Given the description of an element on the screen output the (x, y) to click on. 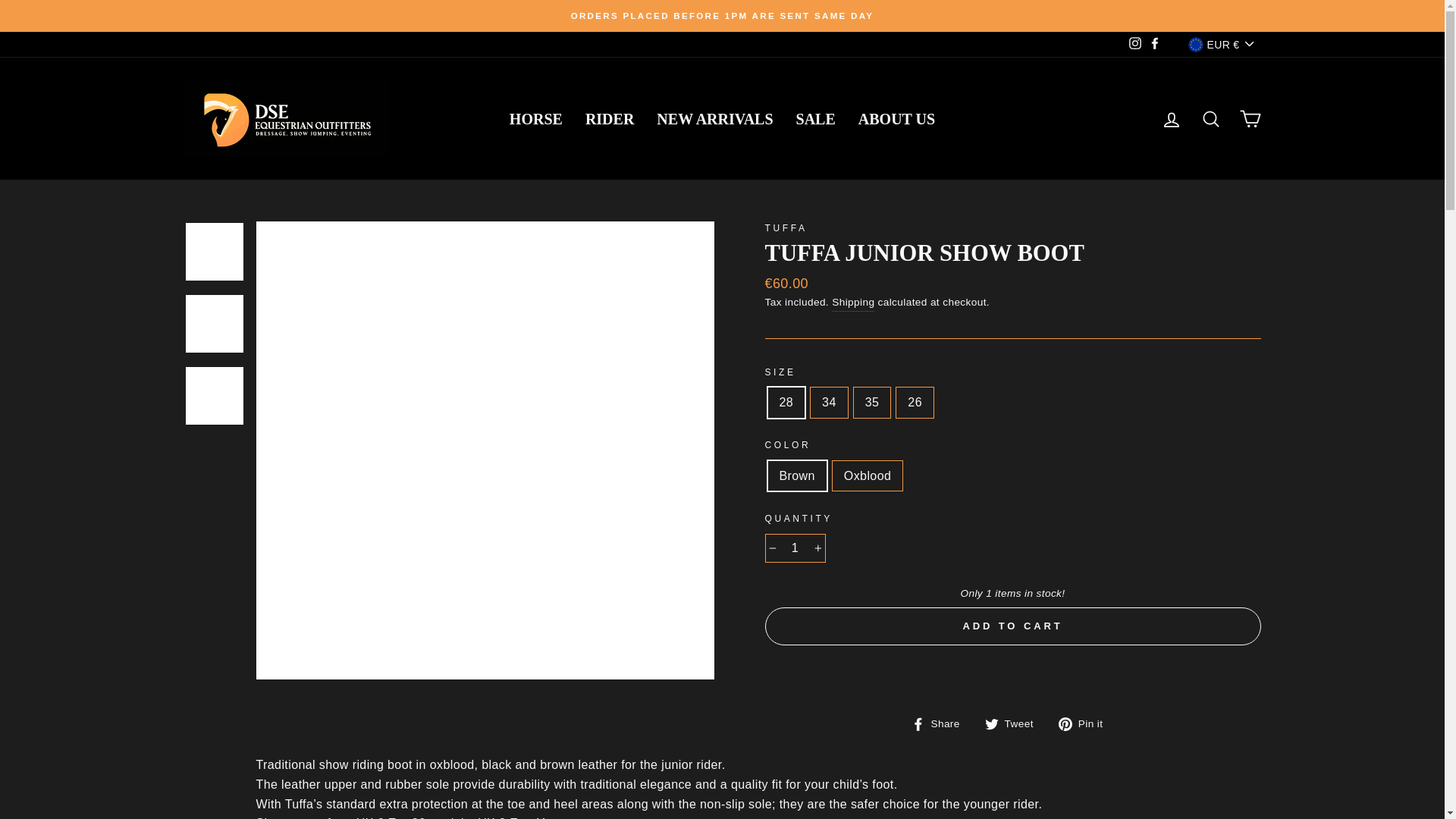
1 (794, 547)
Tweet on Twitter (1015, 723)
Tuffa (785, 227)
